Given the description of an element on the screen output the (x, y) to click on. 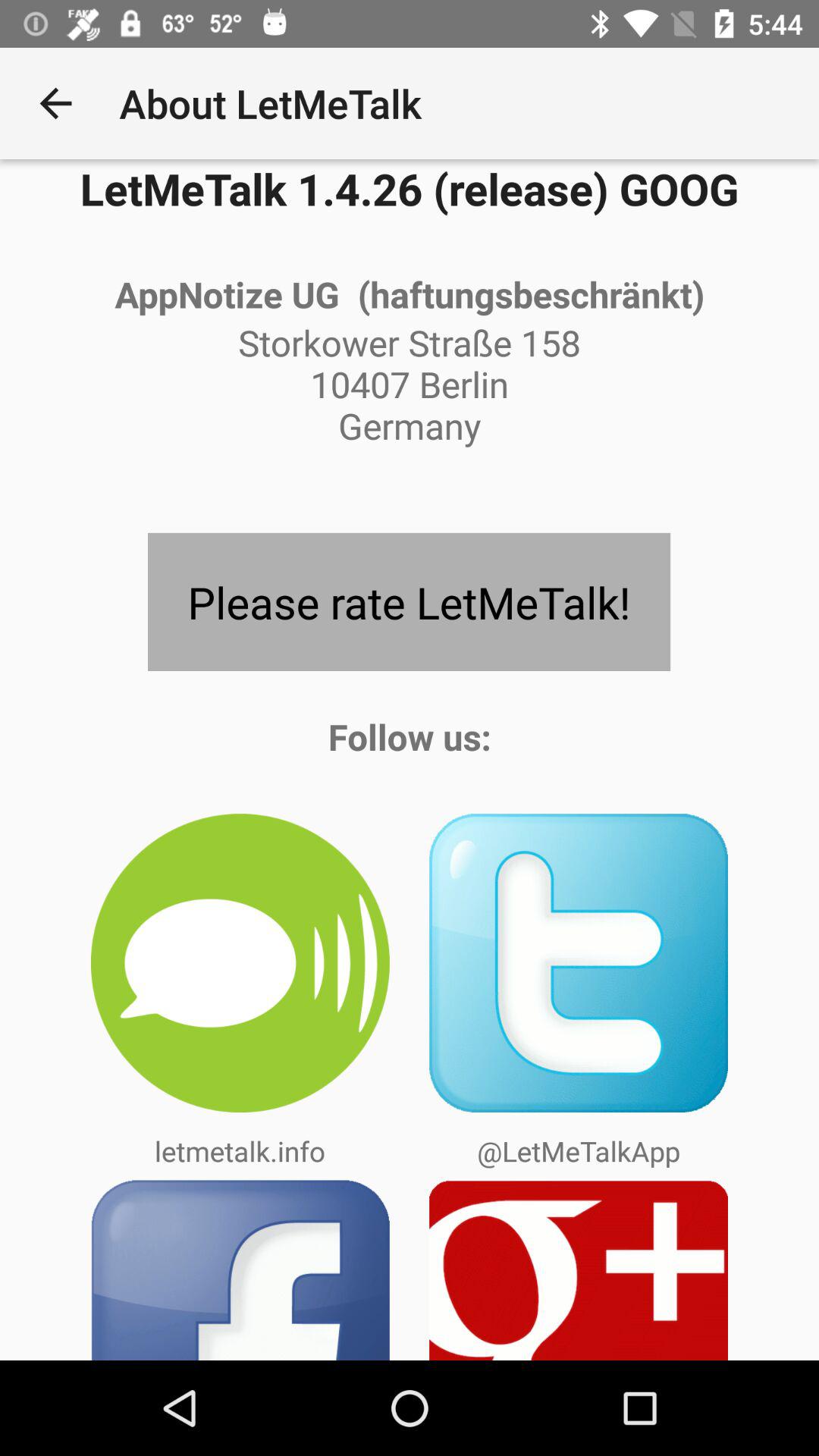
facebook (240, 1269)
